Given the description of an element on the screen output the (x, y) to click on. 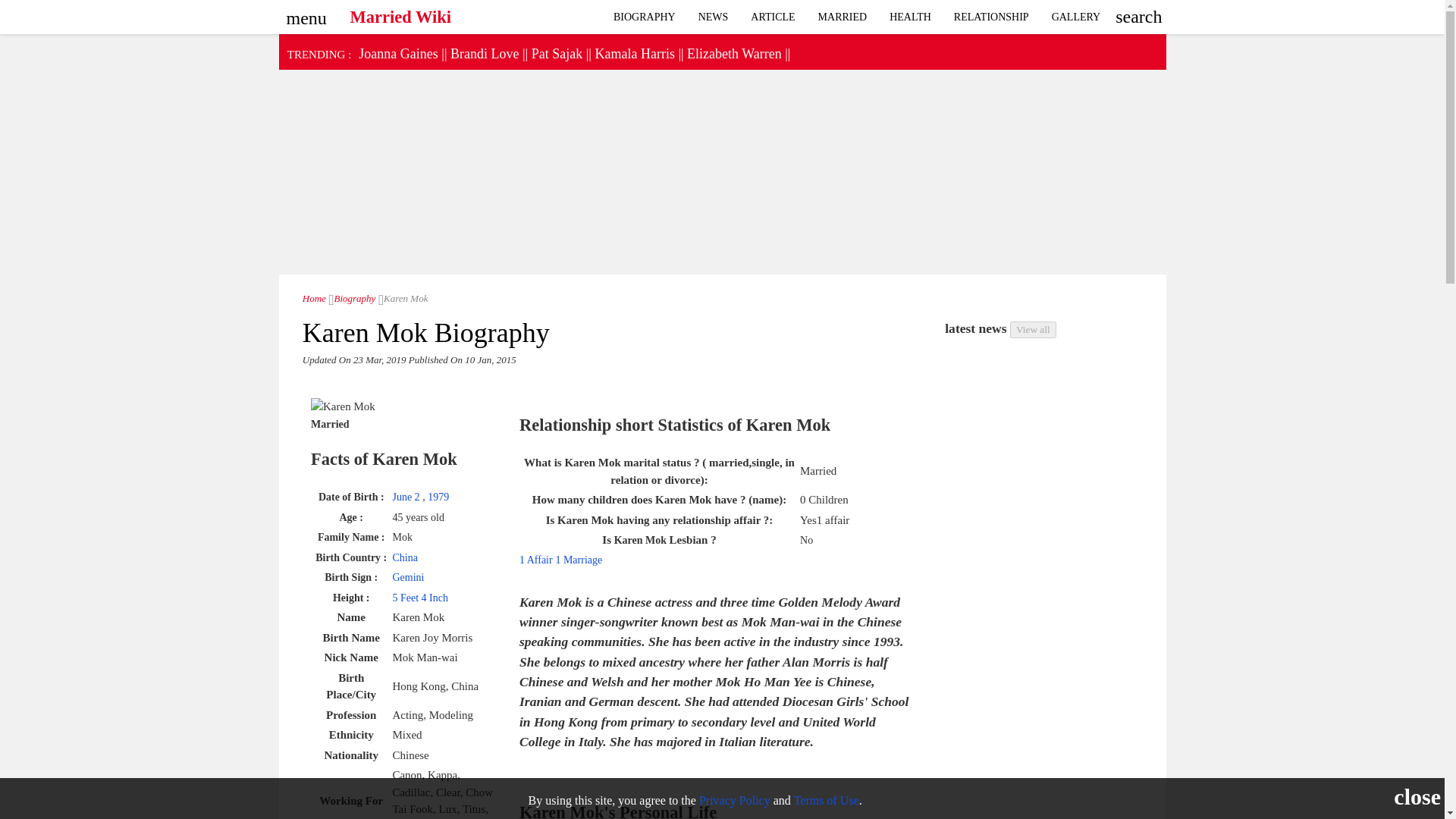
Married Wiki (400, 13)
BIOGRAPHY (644, 17)
Married Wiki (314, 297)
Home (314, 297)
Biography (644, 17)
1 Affair (536, 559)
Biography (352, 297)
Terms of Use (826, 799)
Elizabeth Warren (734, 53)
June 2 (406, 496)
